Given the description of an element on the screen output the (x, y) to click on. 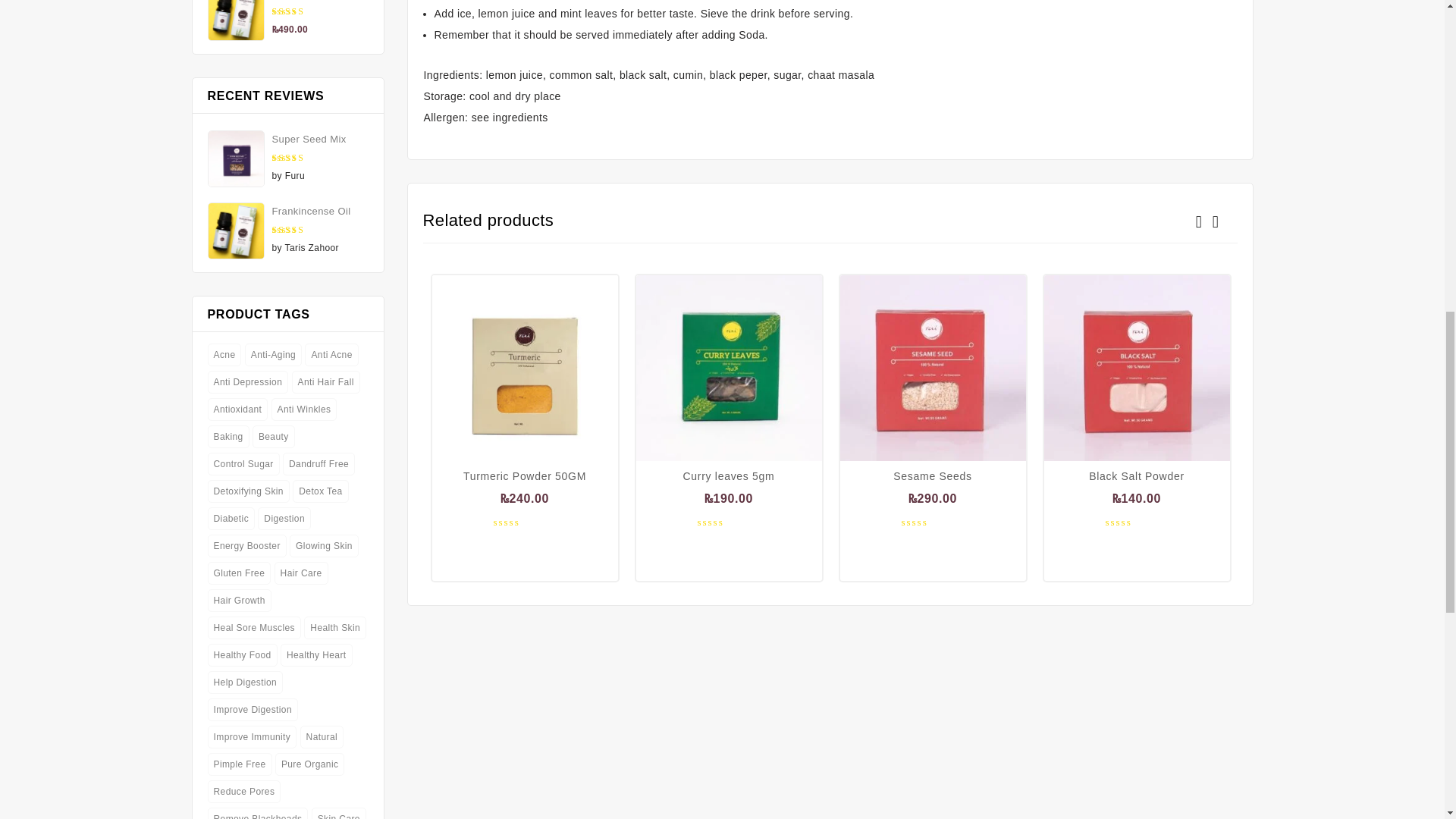
Not yet rated (932, 522)
Not yet rated (1136, 522)
Not yet rated (728, 522)
Not yet rated (524, 522)
